Given the description of an element on the screen output the (x, y) to click on. 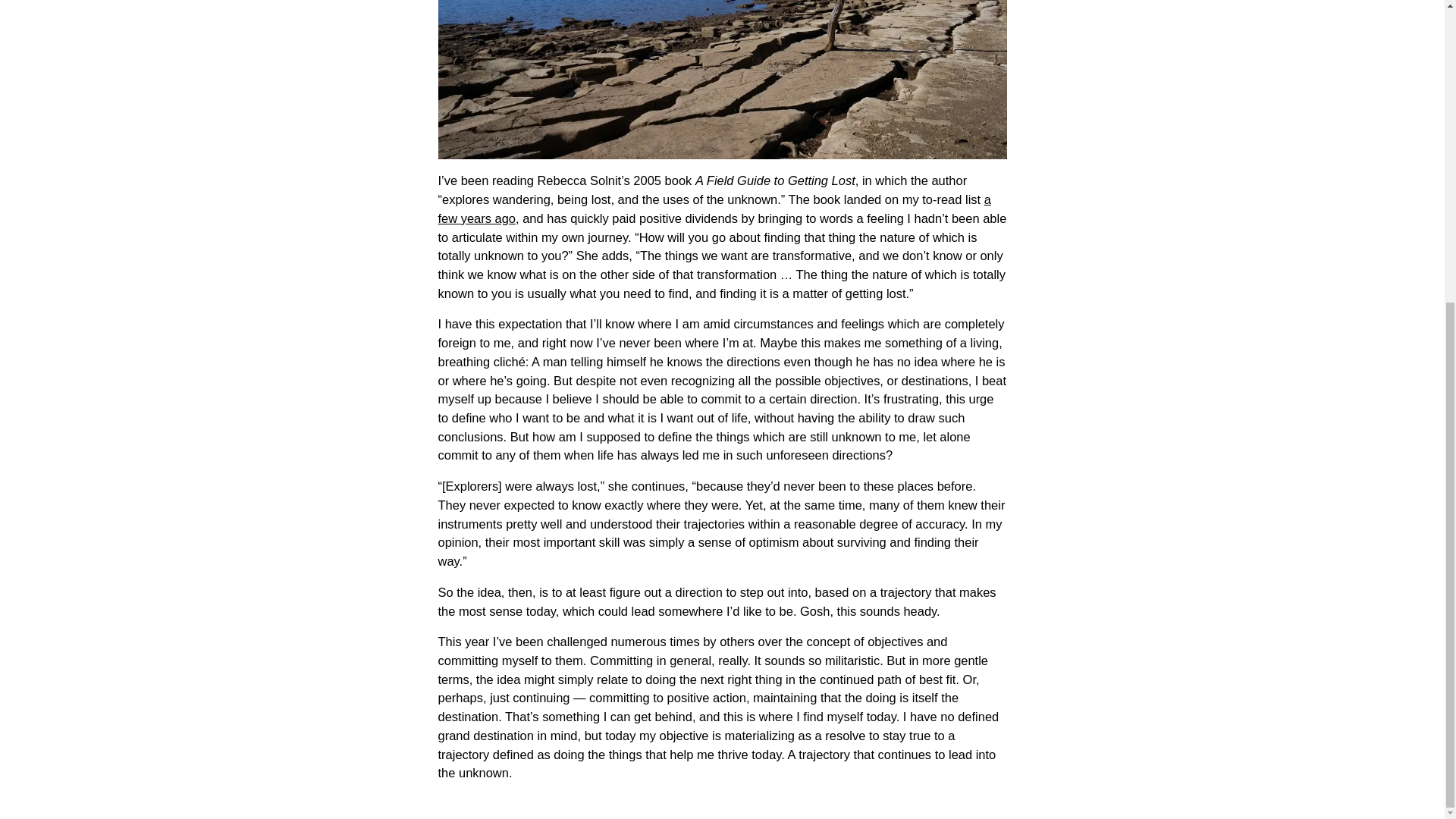
a few years ago (714, 208)
